Given the description of an element on the screen output the (x, y) to click on. 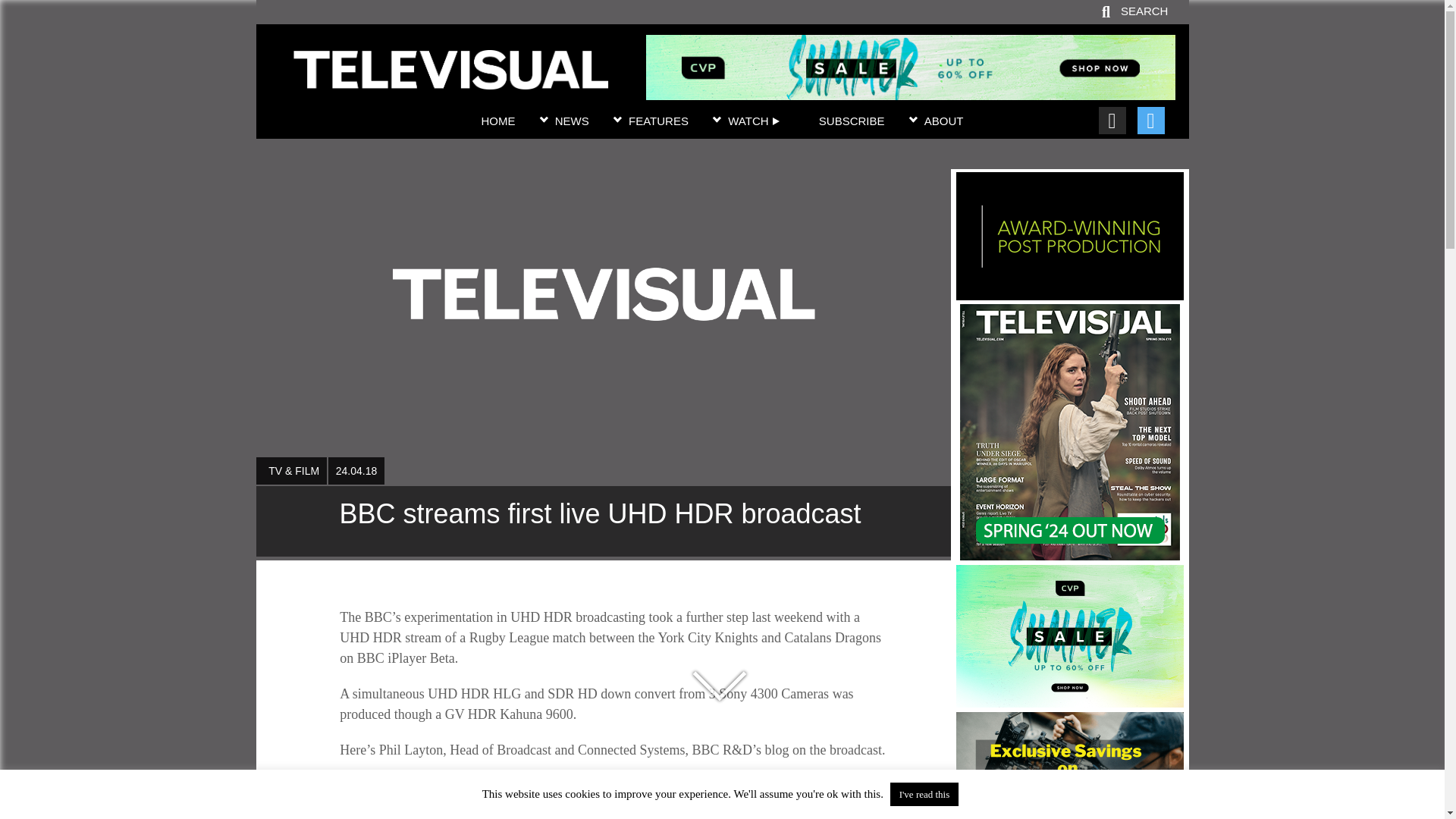
24.04.18 (356, 470)
NEWS (571, 121)
BBC streams first live UHD HDR broadcast (603, 521)
BBC streams first live UHD HDR broadcast (451, 80)
FEATURES (658, 121)
SUBSCRIBE (851, 121)
HOME (497, 121)
WATCH (753, 121)
ABOUT (943, 121)
